Given the description of an element on the screen output the (x, y) to click on. 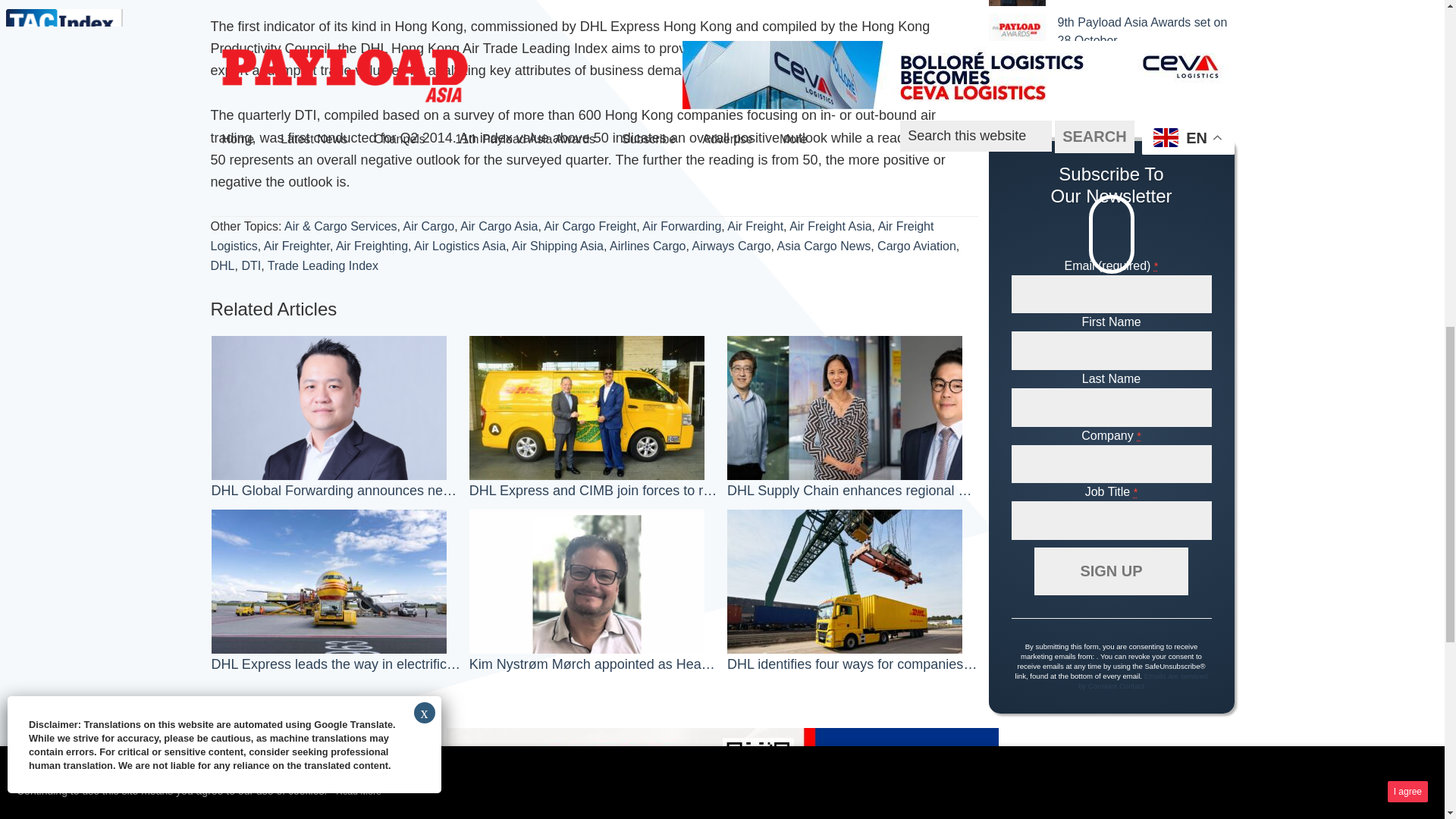
Sign up (1110, 571)
